Given the description of an element on the screen output the (x, y) to click on. 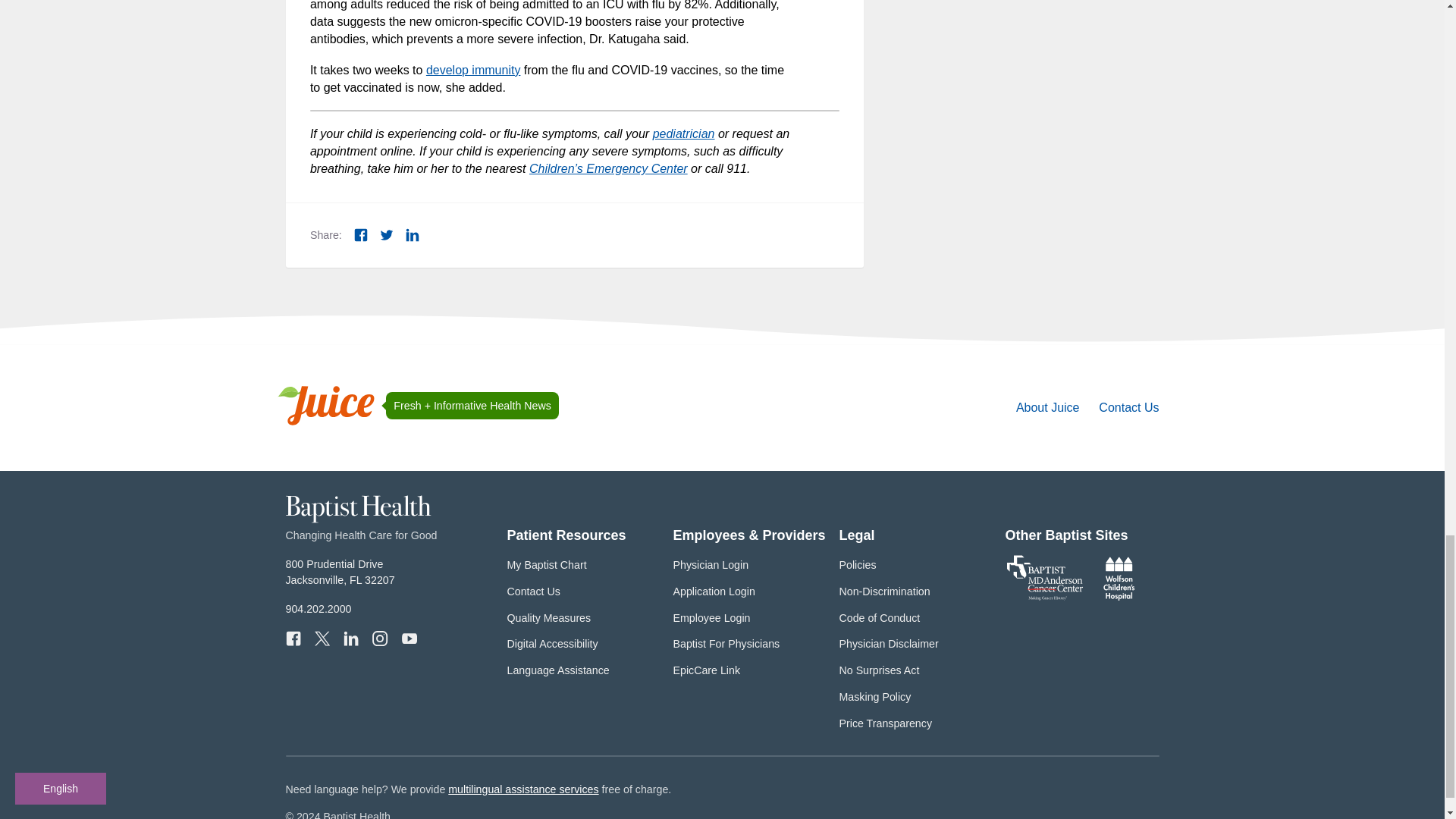
Facebook (292, 638)
Twitter (322, 638)
Facebook (360, 234)
LinkedIn (412, 234)
Instagram (379, 638)
pediatrician (683, 133)
develop immunity (473, 69)
Twitter (386, 234)
Get directions to Baptist Health (339, 571)
LinkedIn (350, 638)
Baptist Health (357, 519)
YouTube (408, 638)
